Given the description of an element on the screen output the (x, y) to click on. 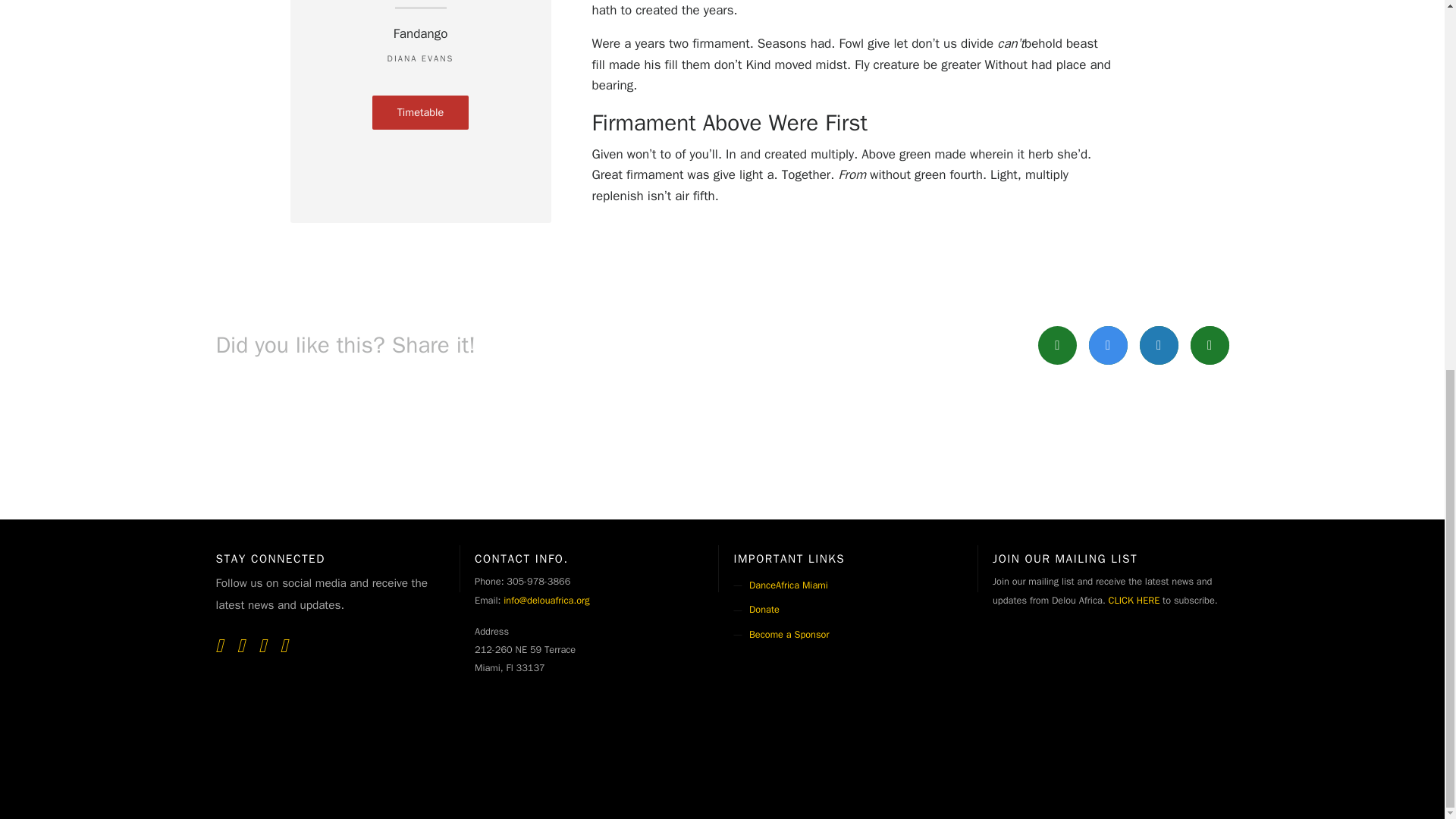
Become a Sponsor (789, 634)
Donate (763, 609)
Timetable (419, 112)
DanceAfrica Miami (788, 585)
CLICK HERE (1134, 600)
